Given the description of an element on the screen output the (x, y) to click on. 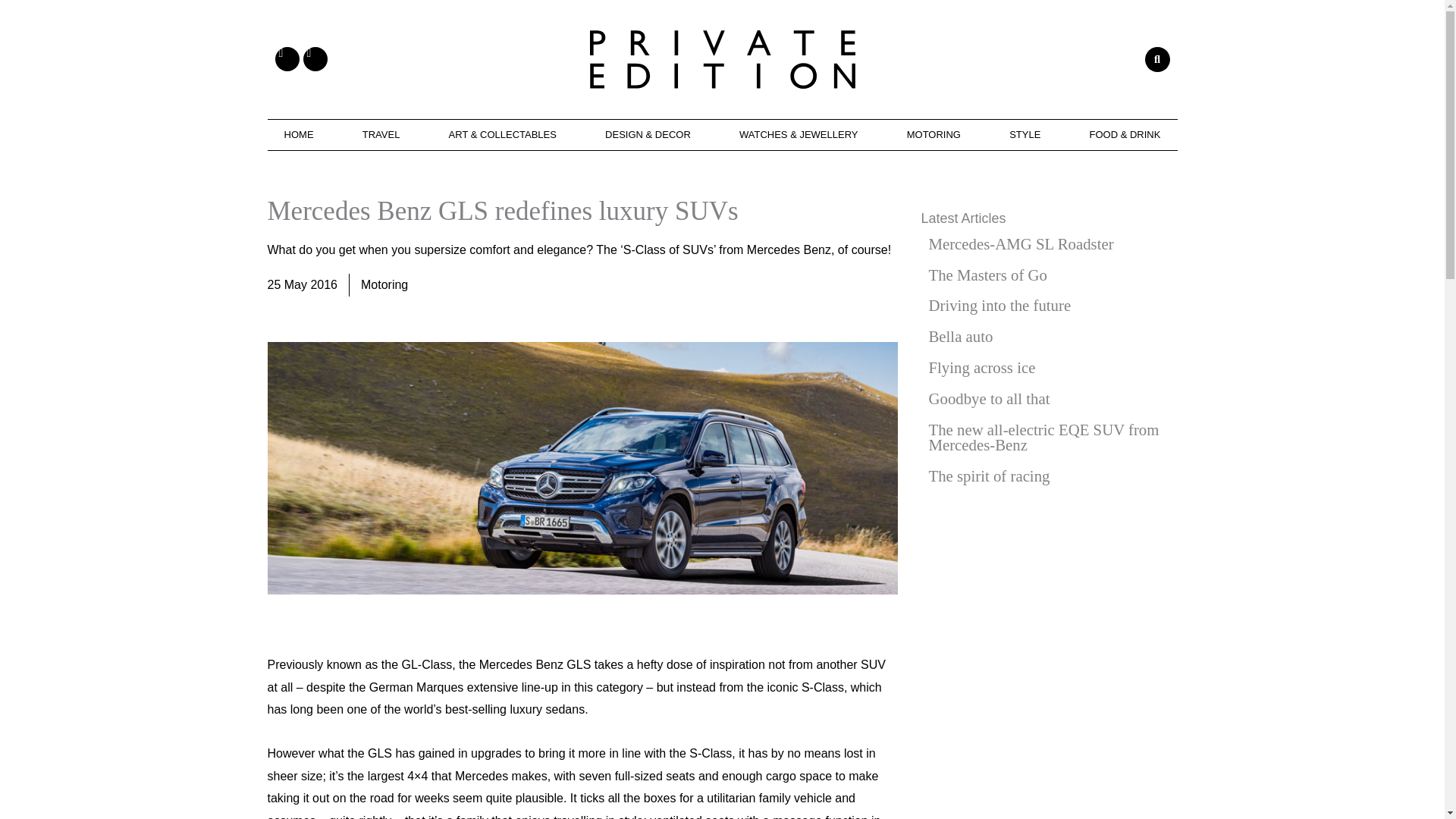
25 May 2016 (301, 284)
Driving into the future (1045, 305)
Flying across ice (1045, 368)
The new all-electric EQE SUV from Mercedes-Benz (1045, 437)
HOME (298, 134)
TRAVEL (381, 134)
Facebook-f (286, 58)
Mercedes-AMG SL Roadster (1045, 244)
MOTORING (932, 134)
The spirit of racing (1045, 476)
Bella auto (1045, 336)
Motoring (384, 284)
The Masters of Go (1045, 275)
STYLE (1024, 134)
Instagram (314, 58)
